Given the description of an element on the screen output the (x, y) to click on. 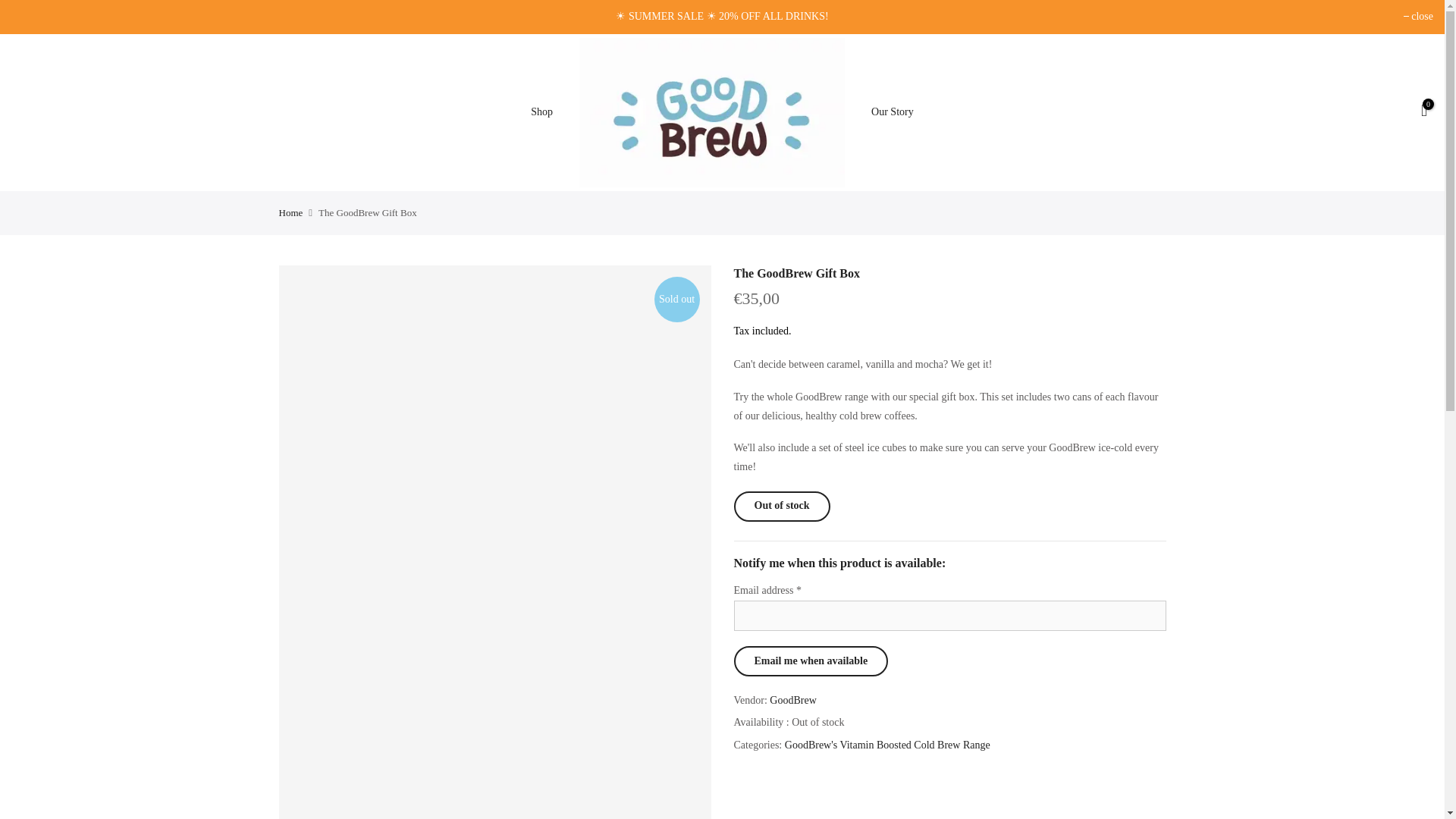
Out of stock (781, 506)
Shop (542, 112)
GoodBrew (792, 700)
GoodBrew's Vitamin Boosted Cold Brew Range (887, 745)
Our Story (893, 112)
Email me when available (810, 661)
close (1417, 16)
Home (290, 213)
Email me when available (810, 661)
GoodBrew (792, 700)
